Given the description of an element on the screen output the (x, y) to click on. 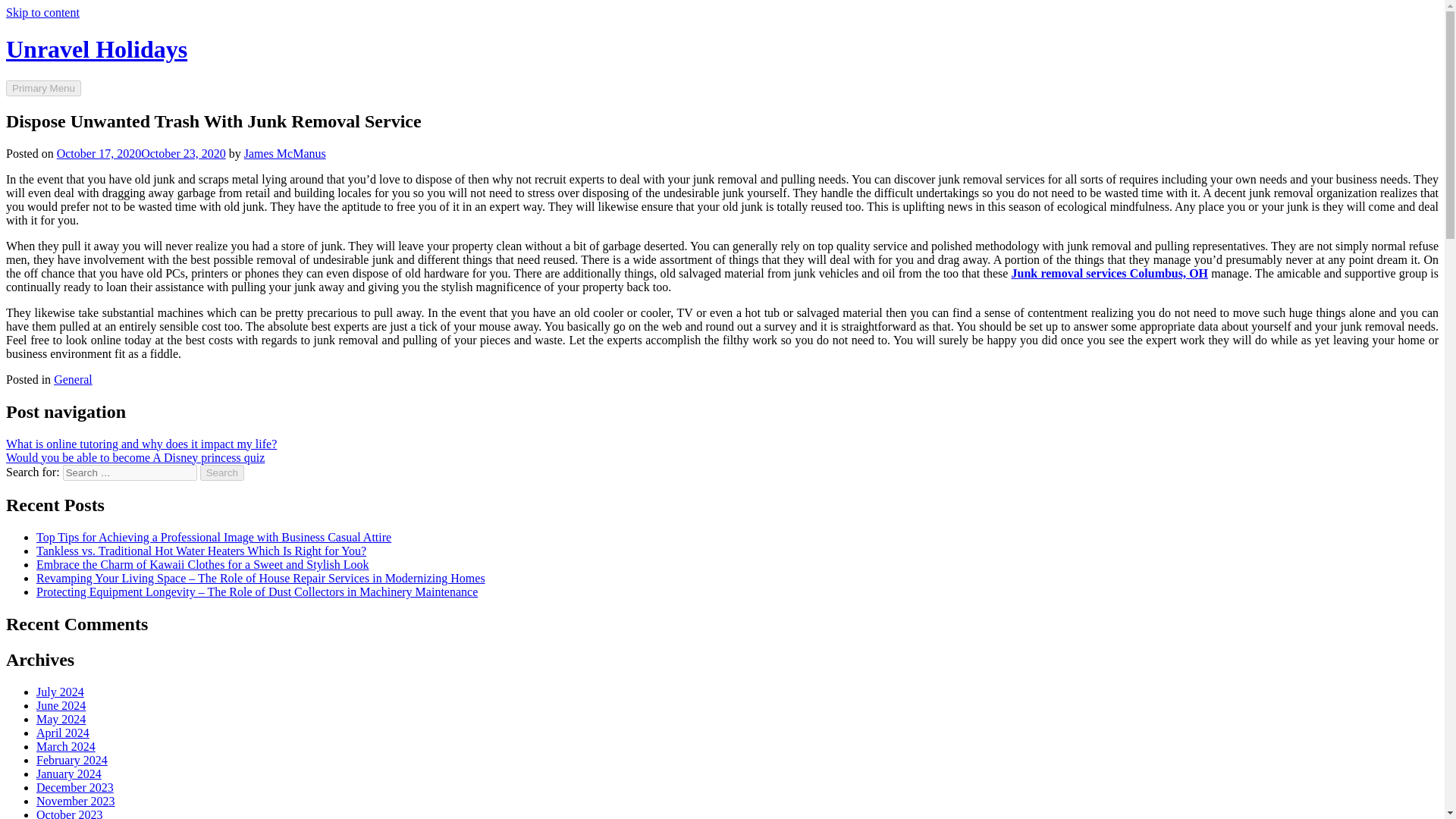
James McManus (285, 153)
Would you be able to become A Disney princess quiz (134, 456)
February 2024 (71, 759)
May 2024 (60, 718)
Search (222, 471)
Search (222, 471)
January 2024 (68, 773)
December 2023 (74, 787)
June 2024 (60, 705)
Junk removal services Columbus, OH (1109, 273)
What is online tutoring and why does it impact my life? (140, 442)
Search (222, 471)
October 2023 (69, 813)
November 2023 (75, 800)
